Given the description of an element on the screen output the (x, y) to click on. 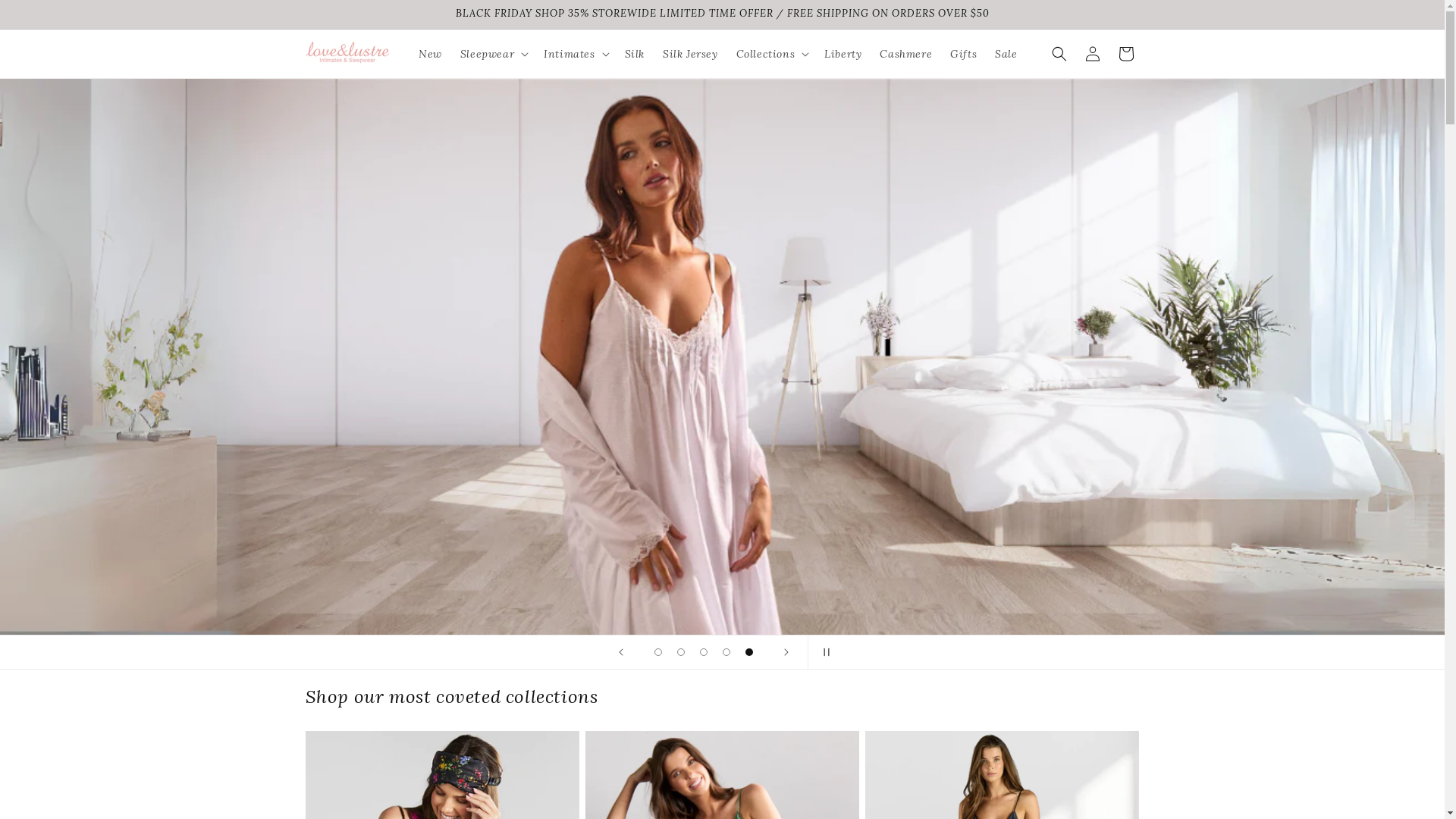
Sale Element type: text (1005, 53)
Silk Element type: text (634, 53)
Cart Element type: text (1125, 53)
New Element type: text (430, 53)
Gifts Element type: text (963, 53)
Liberty Element type: text (842, 53)
Cashmere Element type: text (905, 53)
Silk Jersey Element type: text (690, 53)
Log in Element type: text (1091, 53)
